Given the description of an element on the screen output the (x, y) to click on. 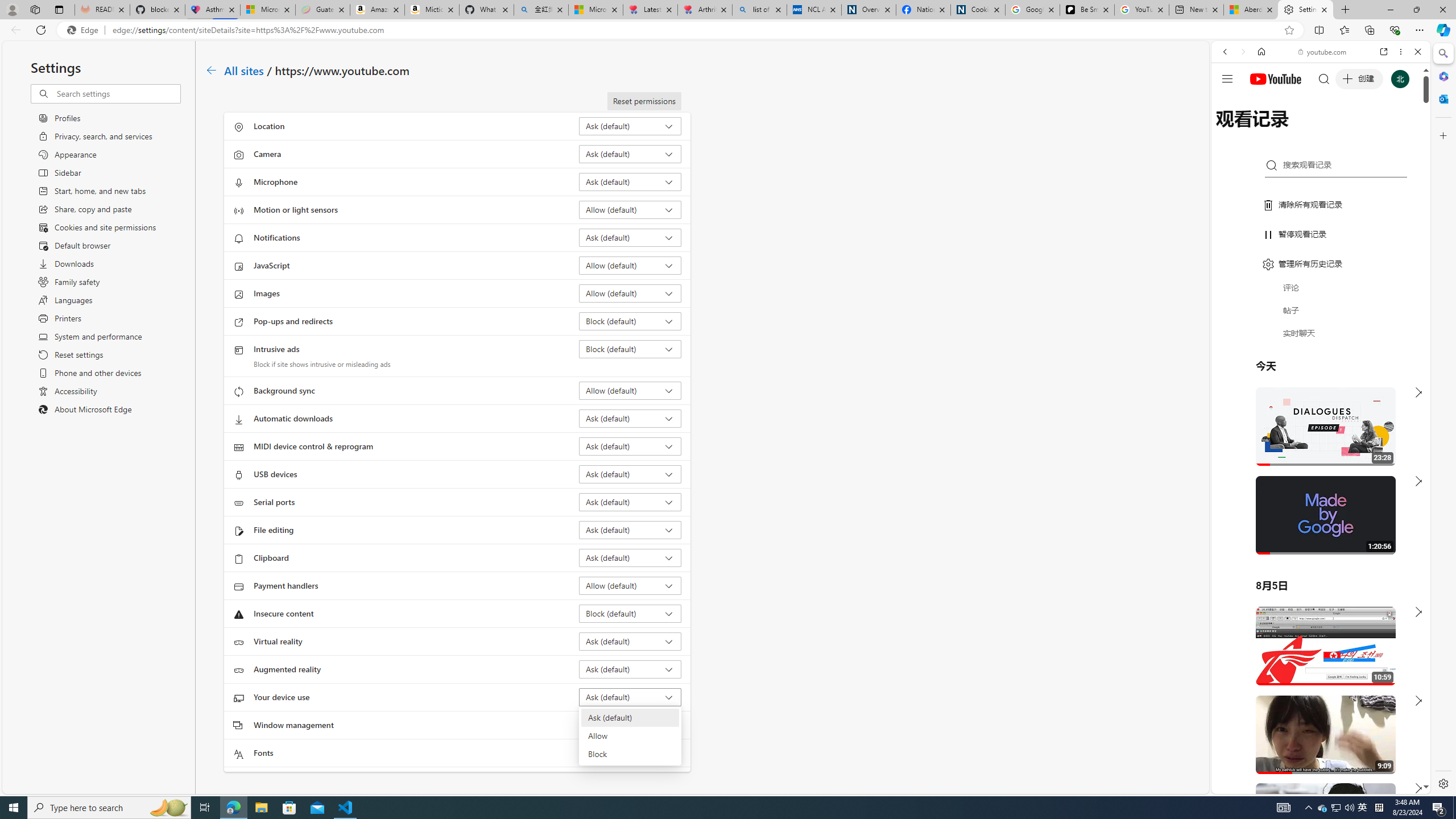
Notifications Ask (default) (630, 237)
Location Ask (default) (630, 126)
you (1315, 755)
